Given the description of an element on the screen output the (x, y) to click on. 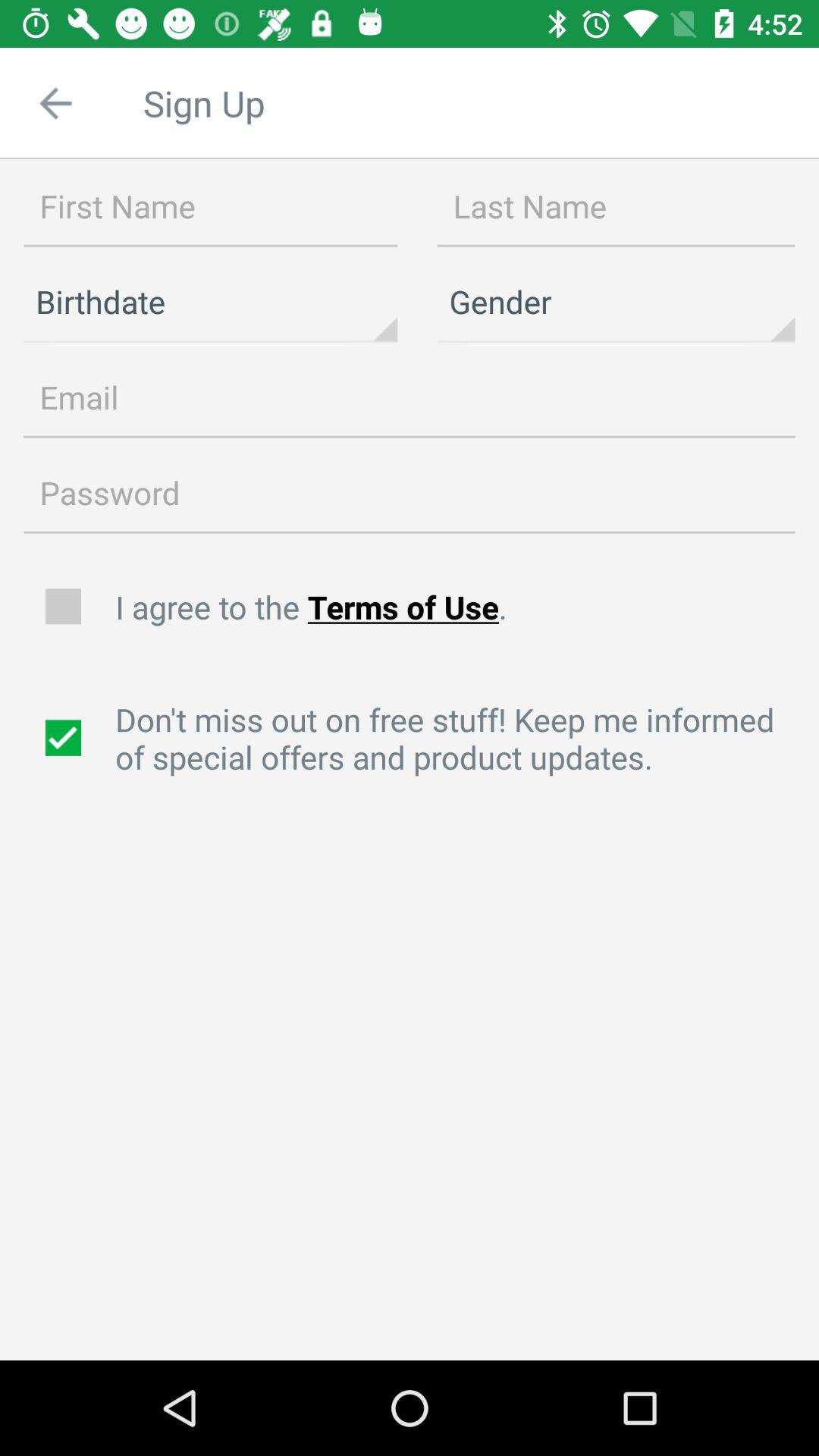
get emails about special offers (65, 738)
